Given the description of an element on the screen output the (x, y) to click on. 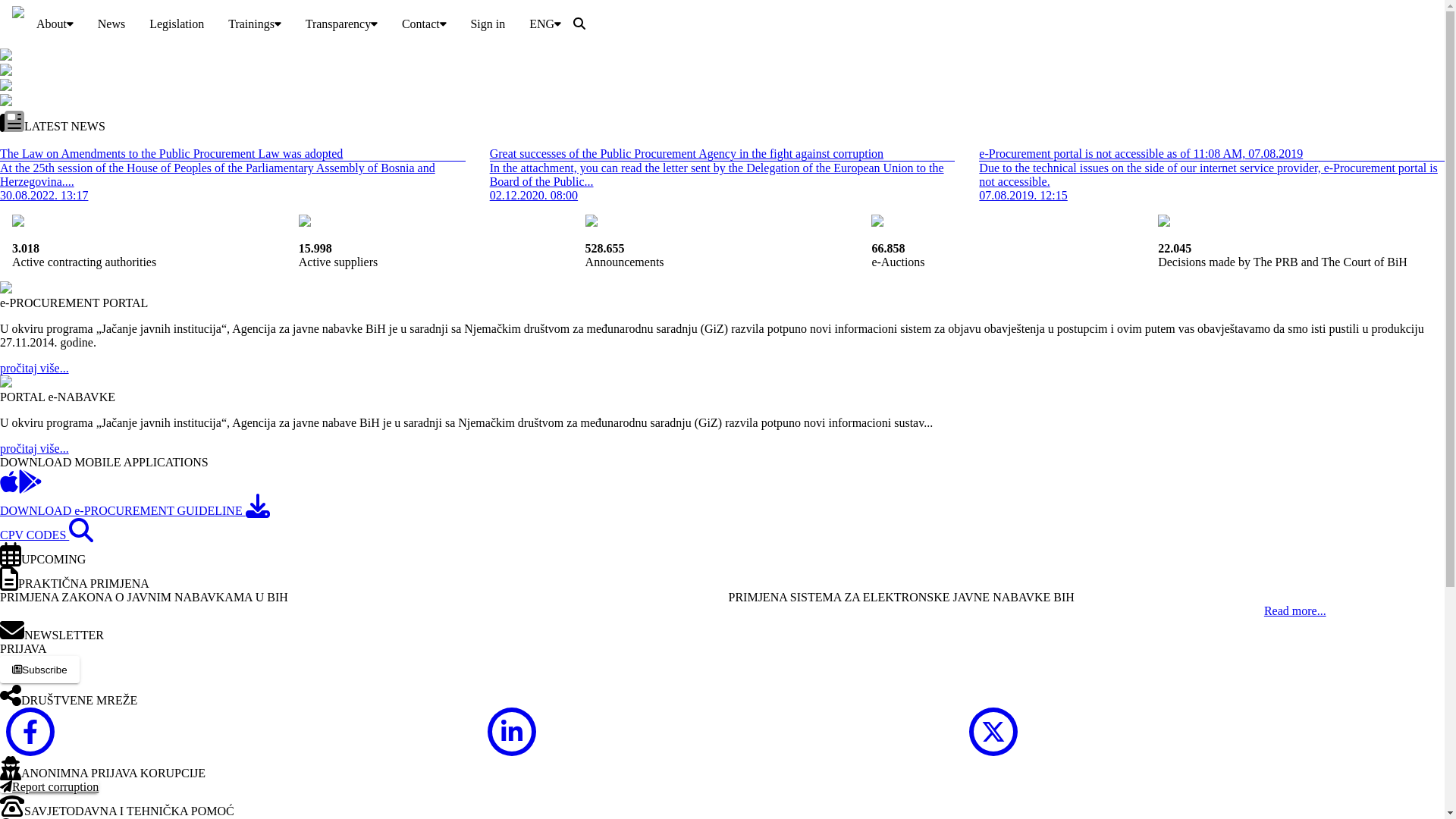
Subscribe Element type: text (39, 669)
Contact Element type: text (423, 24)
Trainings Element type: text (254, 24)
News Element type: text (111, 24)
ENG Element type: text (545, 24)
DOWNLOAD e-PROCUREMENT GUIDELINE Element type: text (134, 510)
Sign in Element type: text (487, 24)
Transparency Element type: text (341, 24)
About Element type: text (54, 24)
Read more... Element type: text (1295, 610)
Report corruption Element type: text (49, 786)
Legislation Element type: text (176, 24)
CPV CODES Element type: text (46, 534)
